Given the description of an element on the screen output the (x, y) to click on. 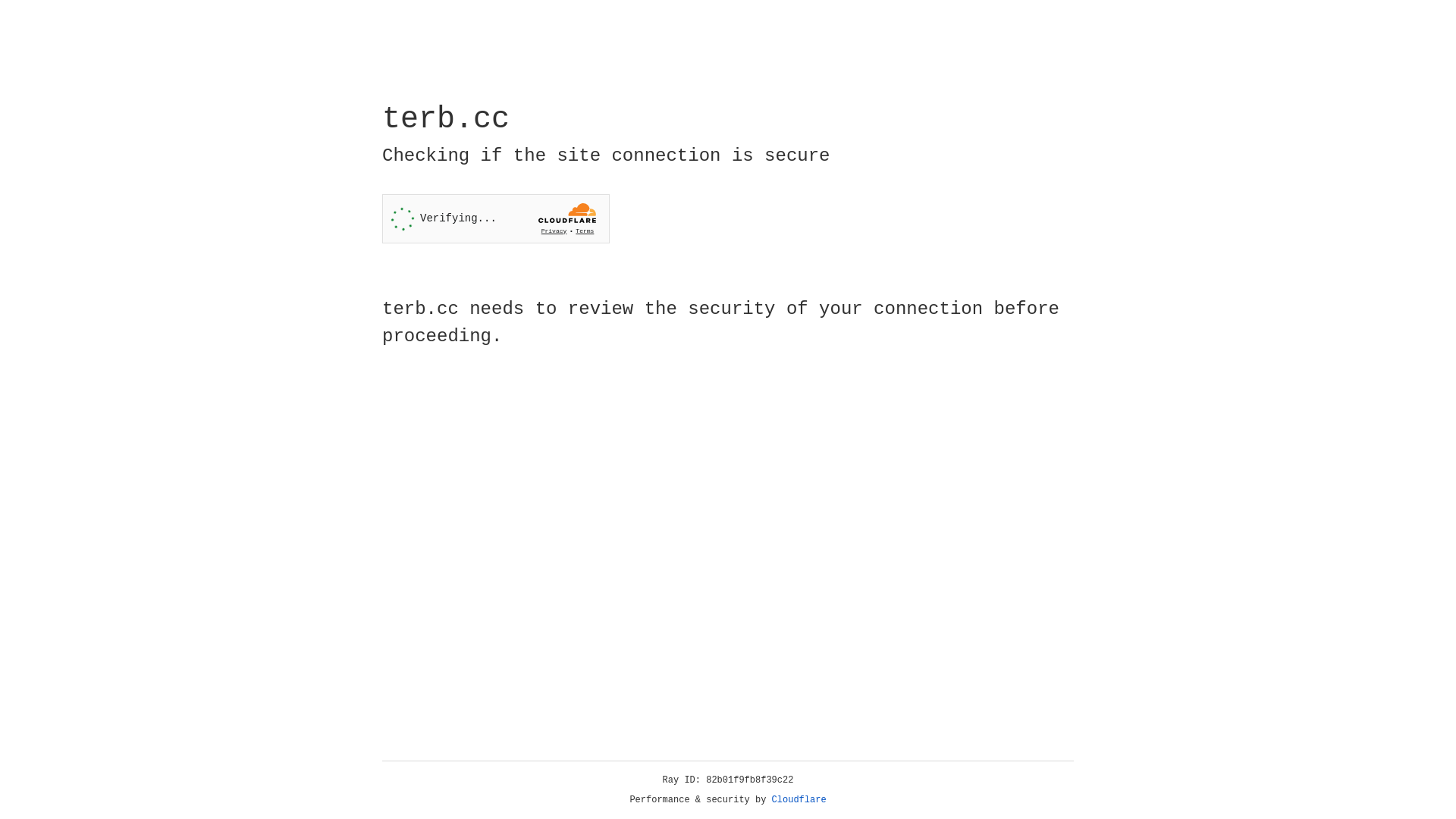
Cloudflare Element type: text (798, 799)
Widget containing a Cloudflare security challenge Element type: hover (495, 218)
